Given the description of an element on the screen output the (x, y) to click on. 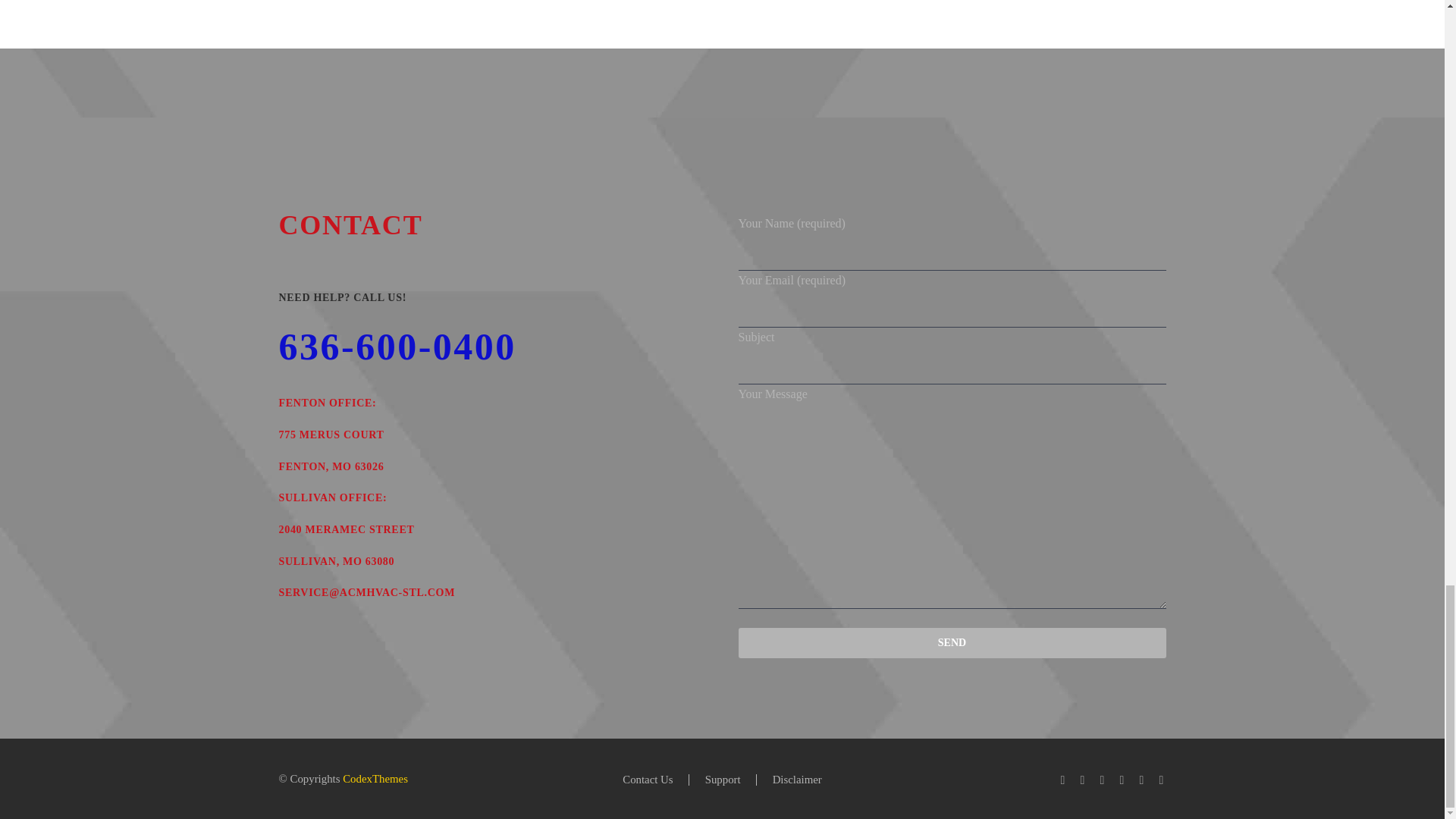
Instagram (1122, 779)
LinkedIn (1083, 779)
Send (952, 643)
YouTube (1161, 779)
Facebook (1062, 779)
Twitter (1102, 779)
Pinterest (1141, 779)
